Given the description of an element on the screen output the (x, y) to click on. 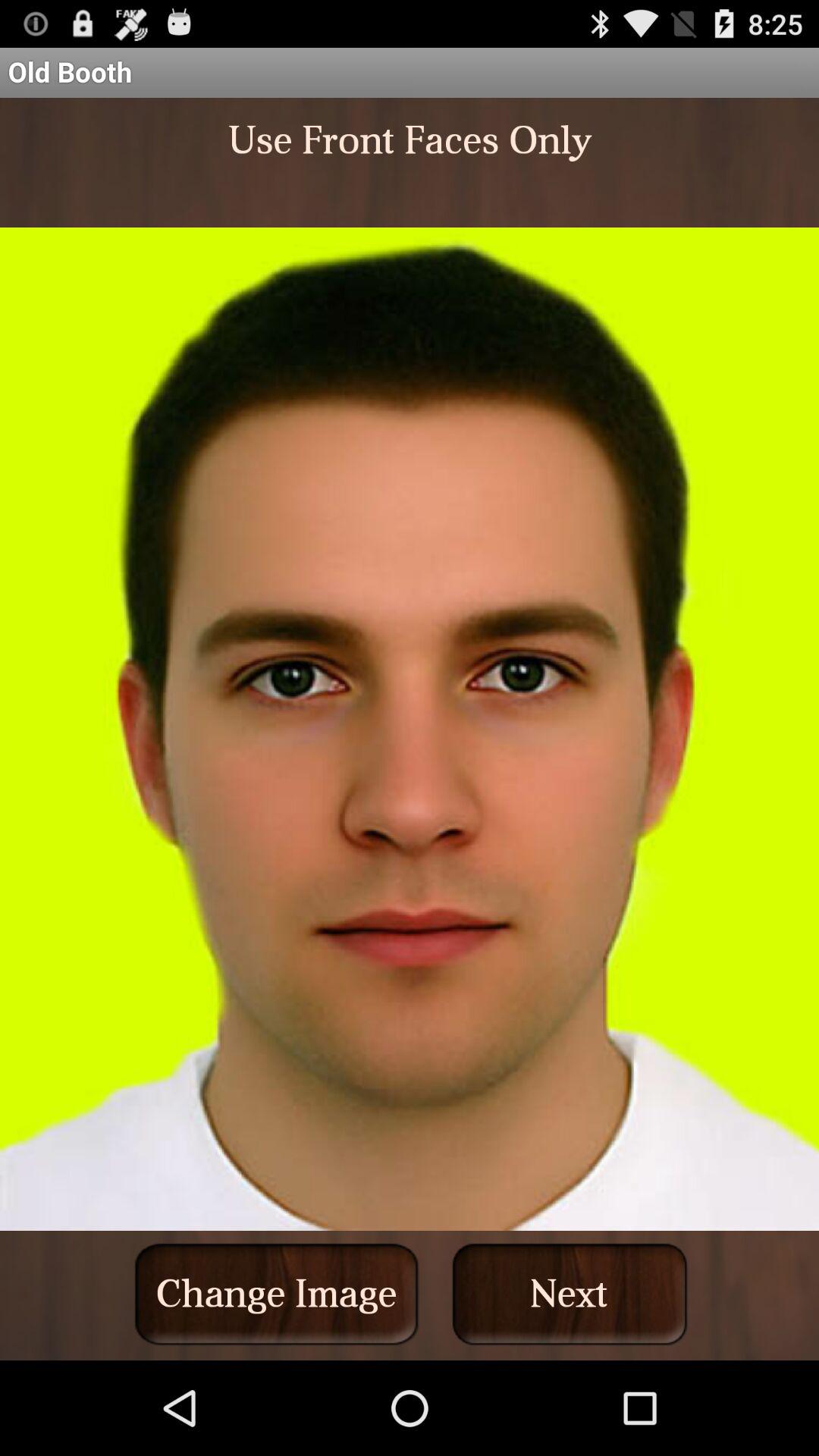
open item to the right of the change image (569, 1293)
